Given the description of an element on the screen output the (x, y) to click on. 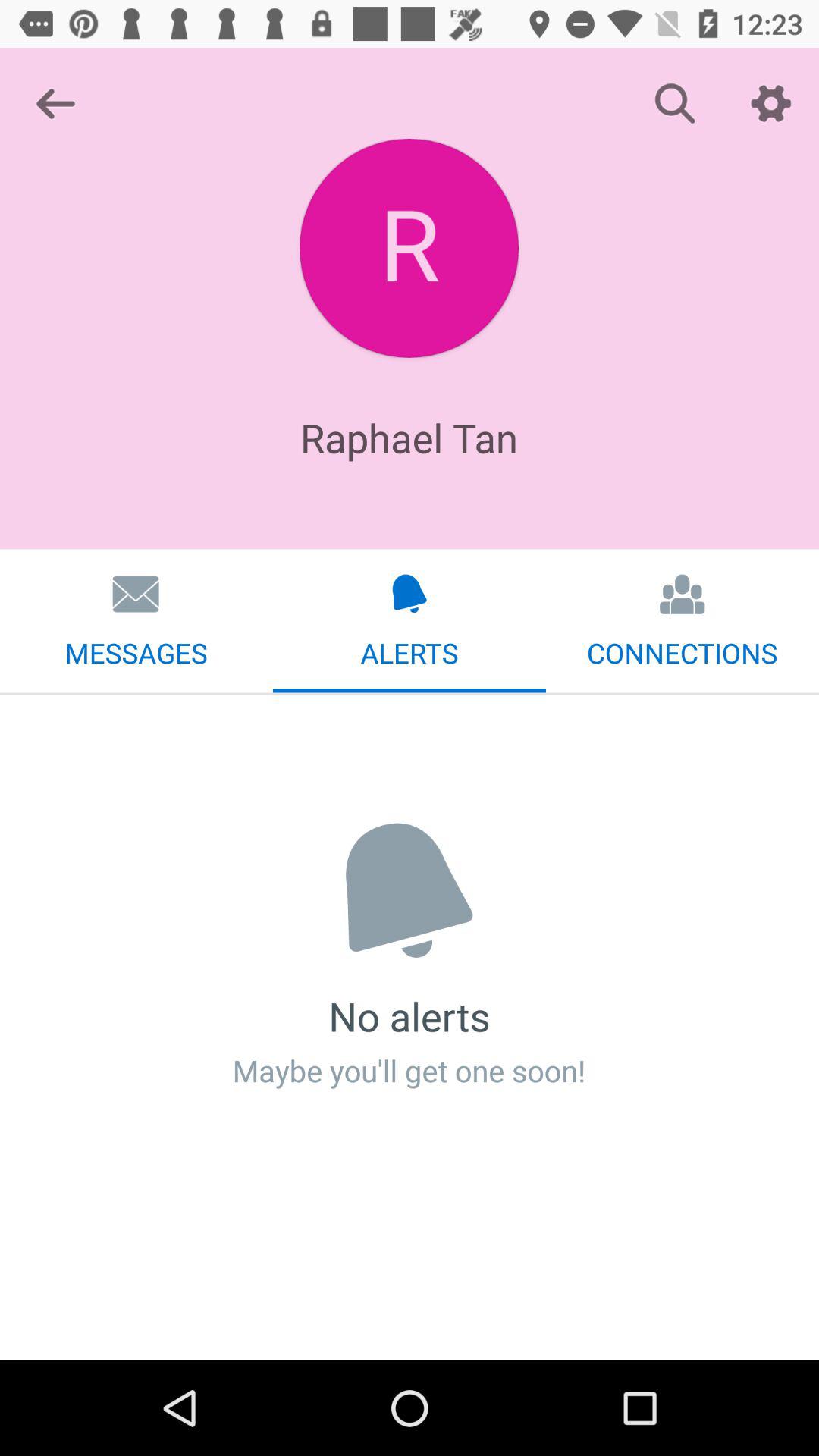
click on the search icon (675, 103)
click on the icon of connections (682, 593)
select the text in the in pink circle (408, 248)
